Given the description of an element on the screen output the (x, y) to click on. 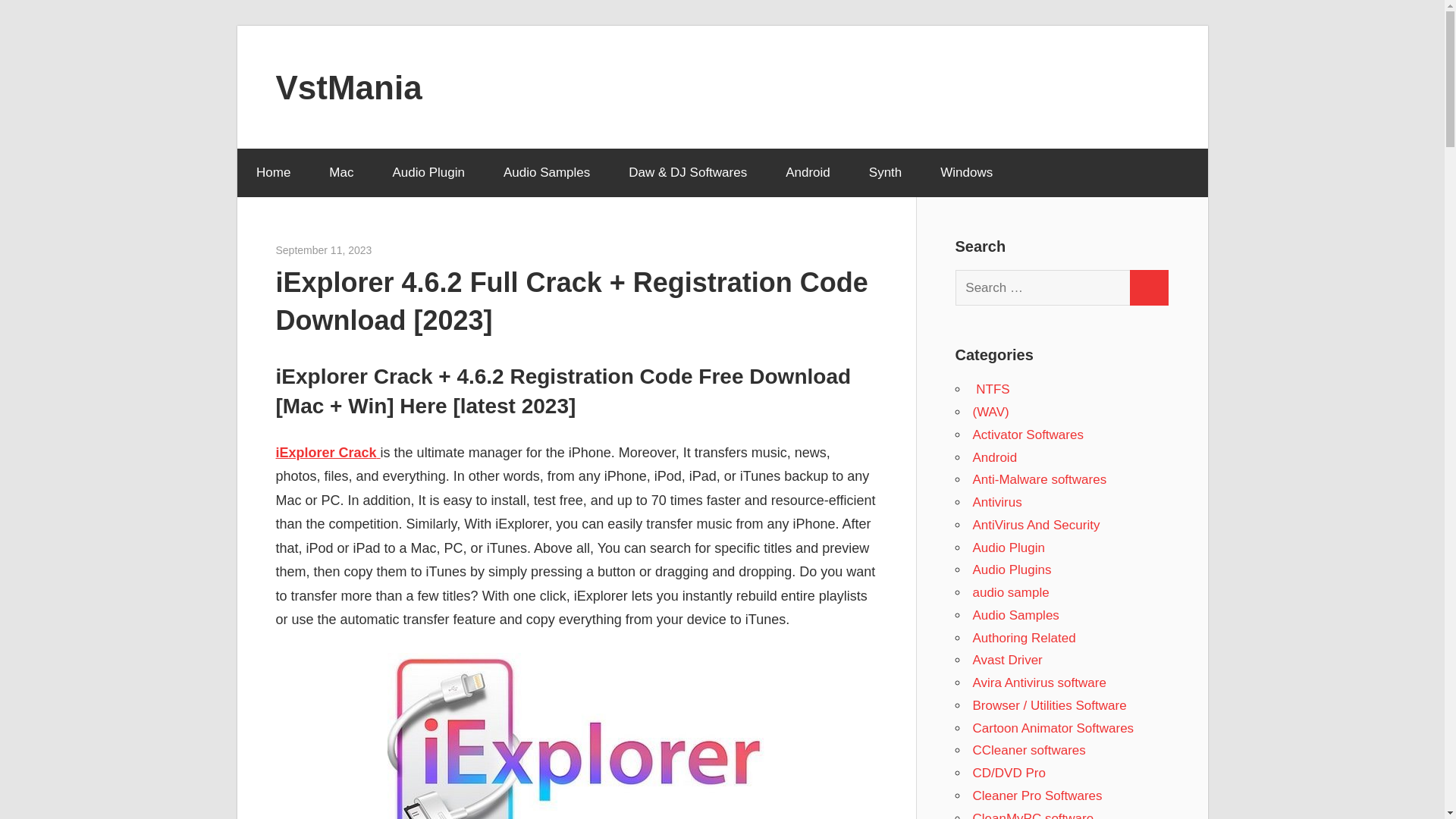
12:00 am (324, 250)
Mac (341, 172)
Android (808, 172)
Audio Samples (545, 172)
paul (381, 250)
View all posts by paul (381, 250)
Audio Plugin (427, 172)
iExplorer Crack  (328, 452)
Home (271, 172)
